Given the description of an element on the screen output the (x, y) to click on. 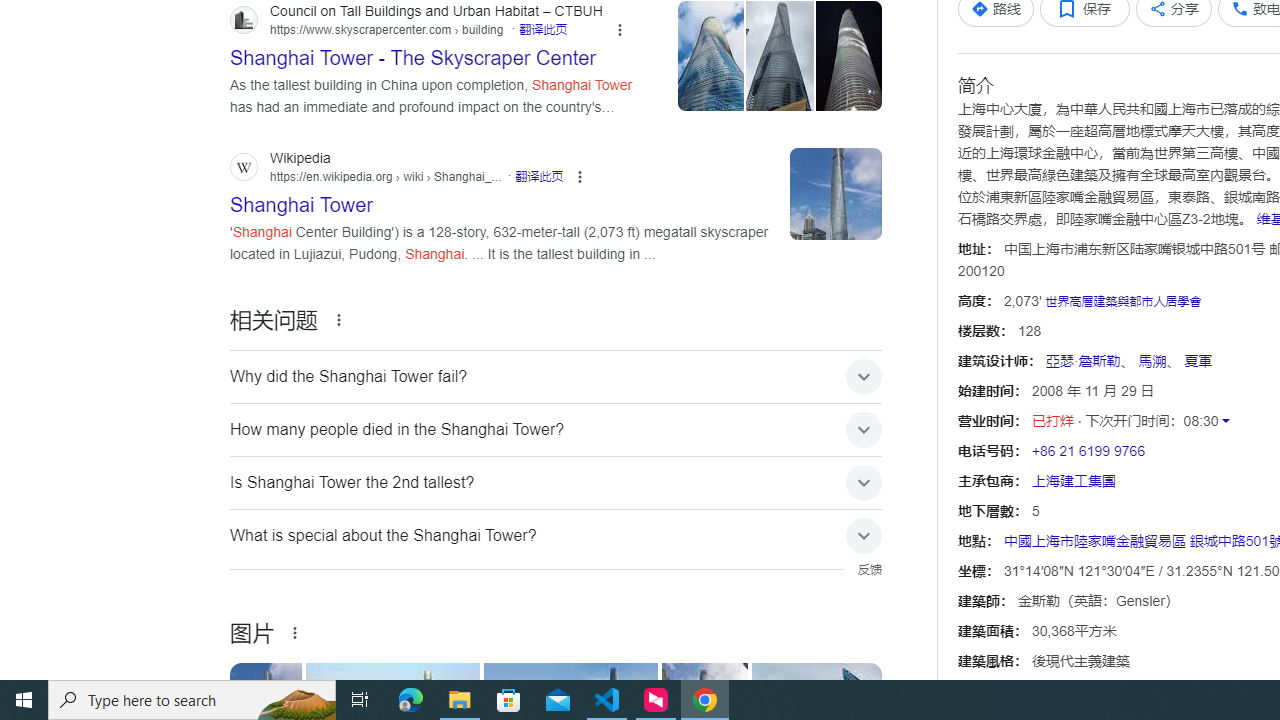
What is special about the Shanghai Tower? (555, 535)
